Given the description of an element on the screen output the (x, y) to click on. 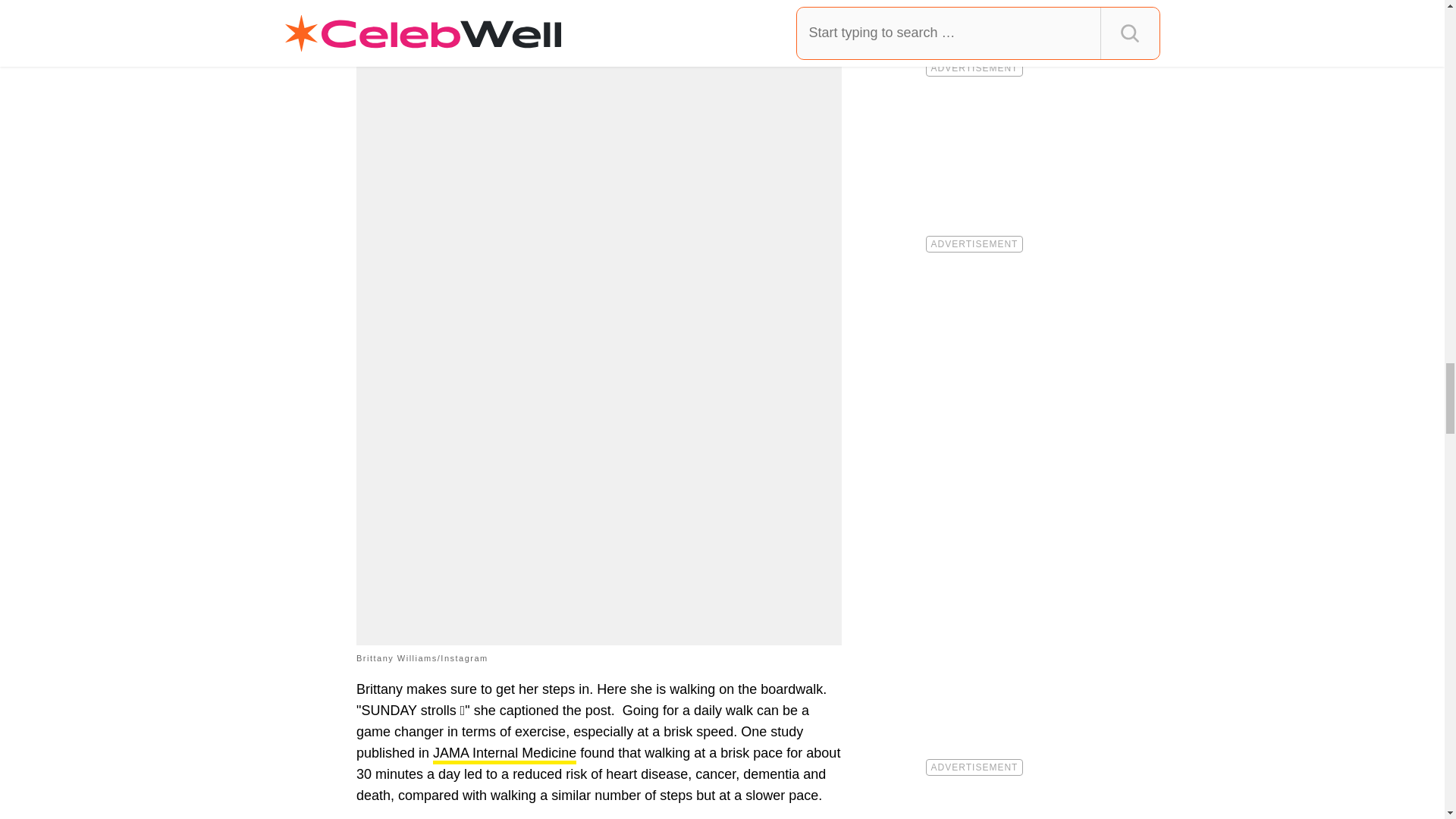
JAMA Internal Medicine (504, 754)
